Given the description of an element on the screen output the (x, y) to click on. 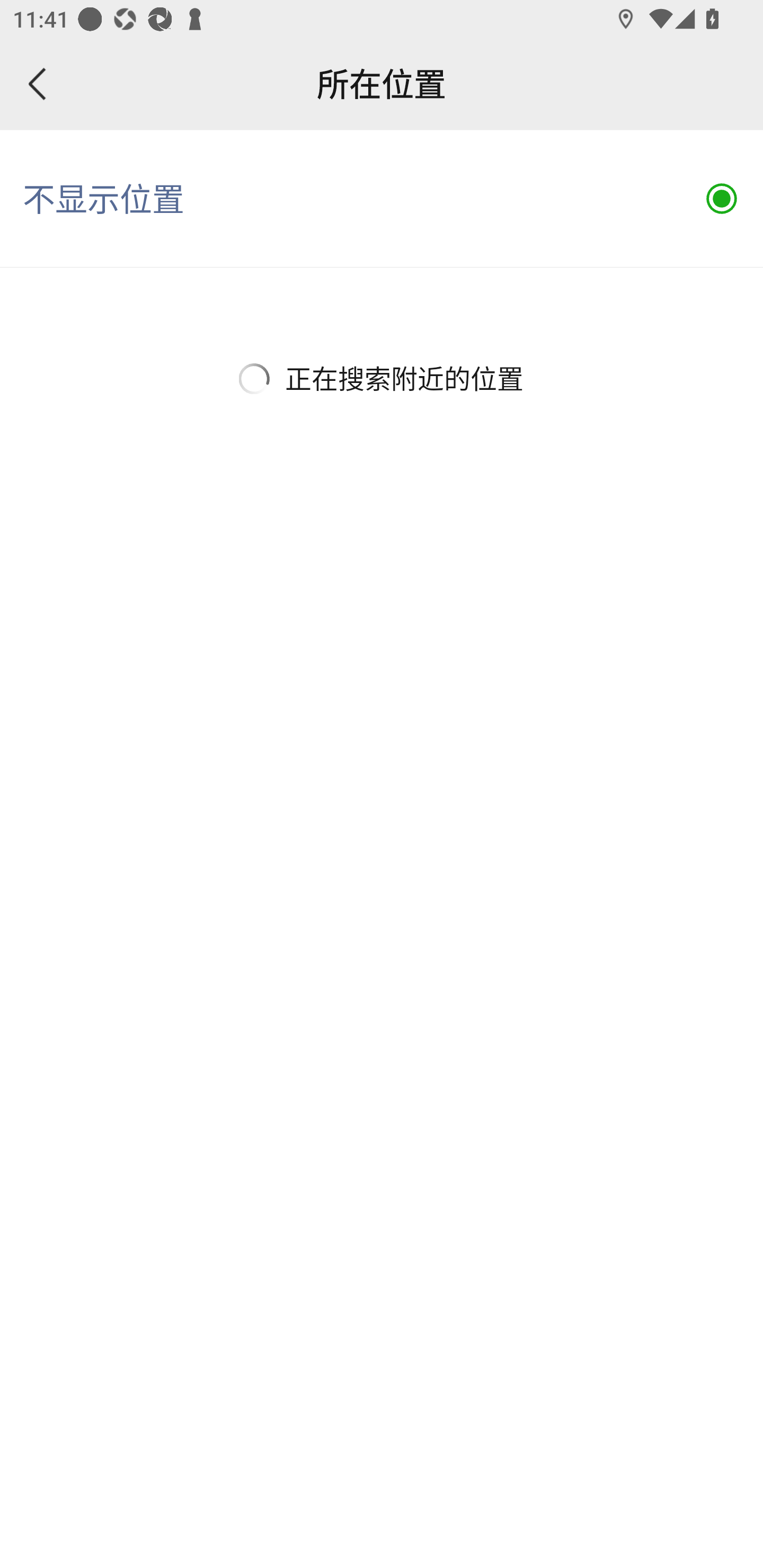
返回 (38, 83)
不显示位置 (381, 199)
正在搜索附近的位置 (381, 378)
